Given the description of an element on the screen output the (x, y) to click on. 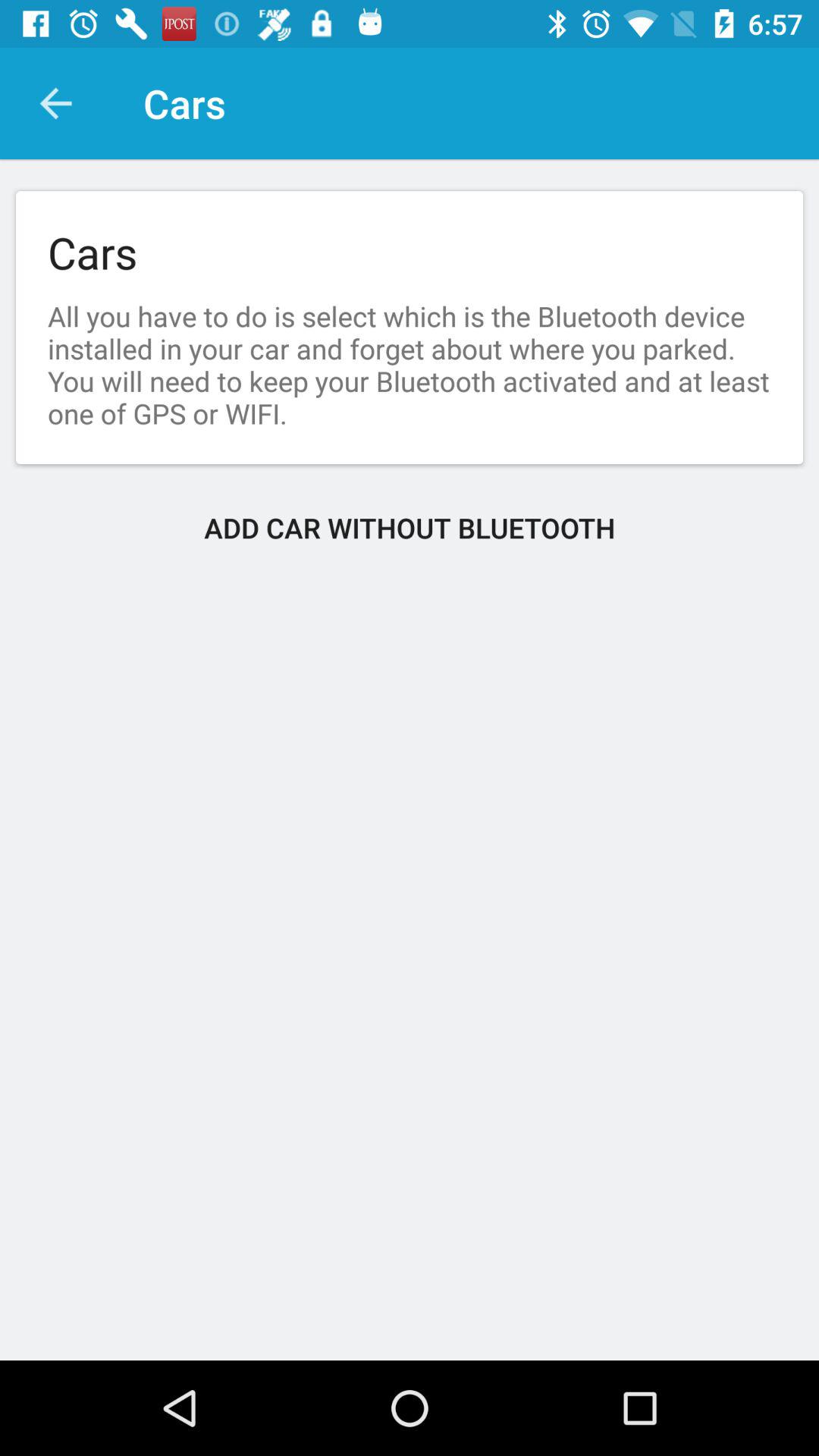
turn on item next to cars (55, 103)
